Given the description of an element on the screen output the (x, y) to click on. 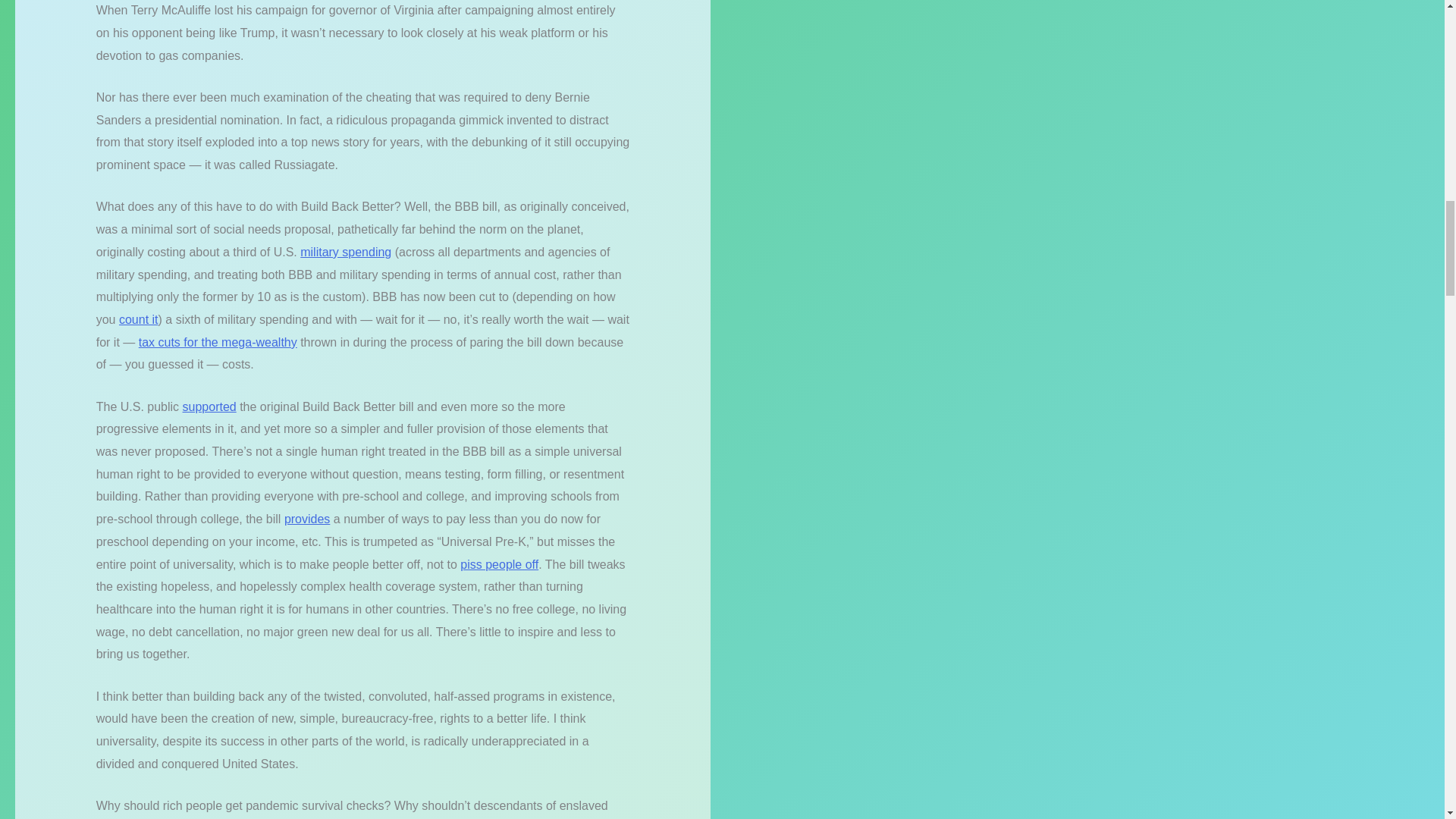
tax cuts for the mega-wealthy (217, 341)
count it (138, 318)
military spending (345, 251)
